Given the description of an element on the screen output the (x, y) to click on. 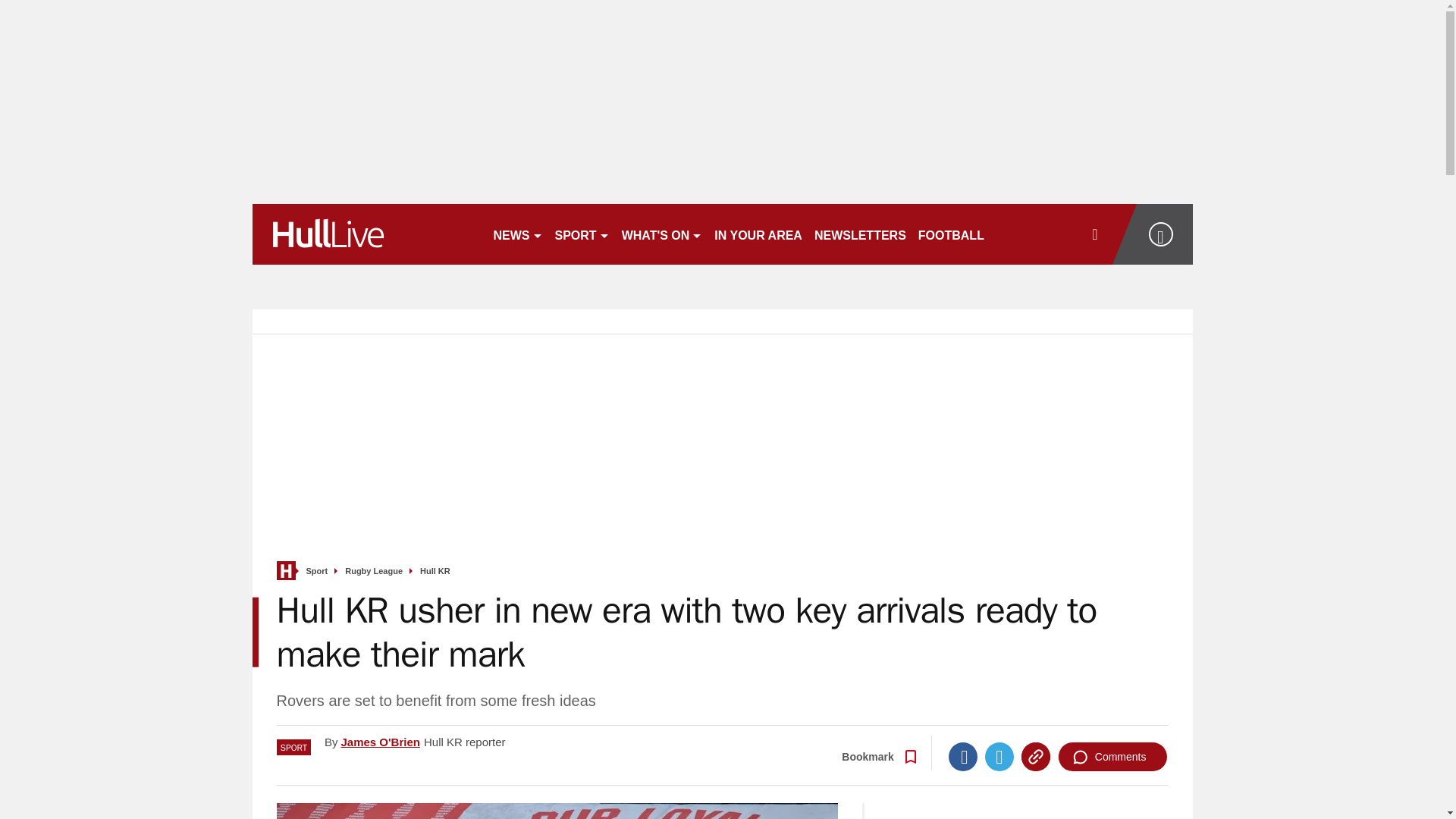
hulldailymail (365, 233)
RUGBY LEAGUE (1045, 233)
FOOTBALL (951, 233)
NEWS (517, 233)
Twitter (999, 756)
Facebook (962, 756)
WHAT'S ON (662, 233)
IN YOUR AREA (757, 233)
NEWSLETTERS (860, 233)
SPORT (581, 233)
Comments (1112, 756)
